Given the description of an element on the screen output the (x, y) to click on. 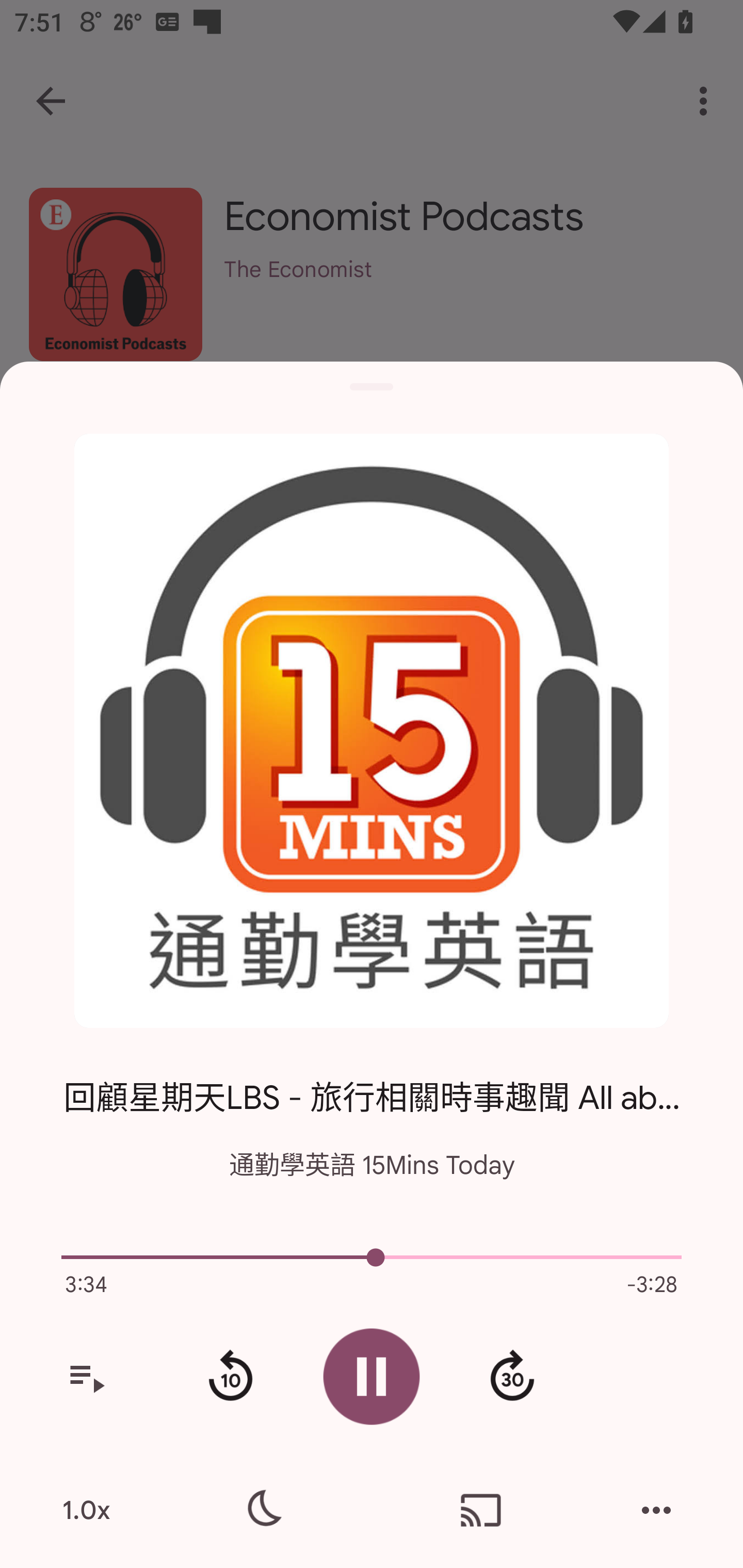
Open the show page for 通勤學英語 15Mins Today (371, 731)
5072.0 Current episode playback (371, 1257)
Pause (371, 1376)
View your queue (86, 1376)
Rewind 10 seconds (230, 1376)
Fast forward 30 second (511, 1376)
1.0x Playback speed is 1.0. (86, 1510)
Sleep timer settings (261, 1510)
Cast. Disconnected (480, 1510)
More actions (655, 1510)
